Given the description of an element on the screen output the (x, y) to click on. 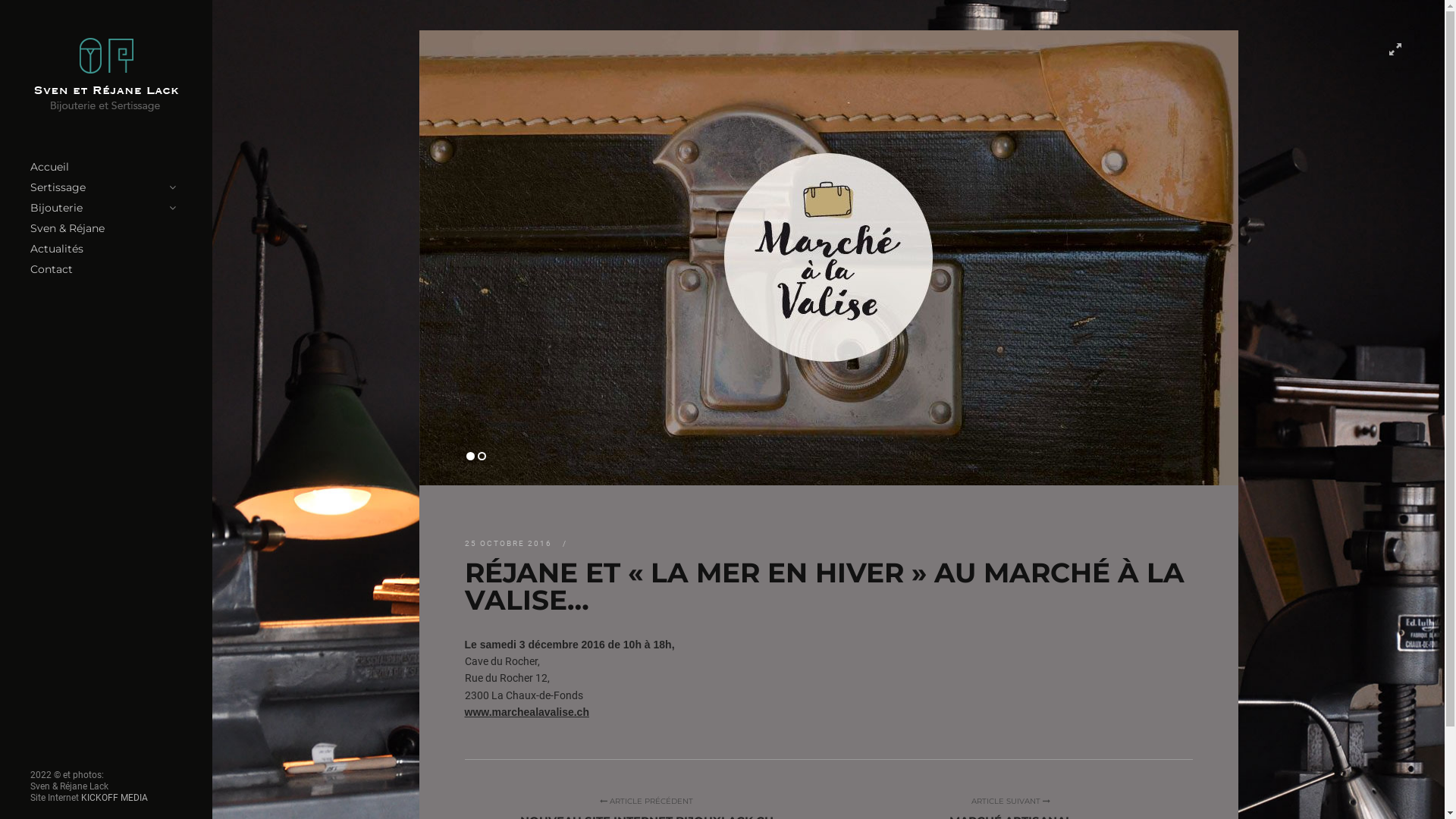
Full screen Element type: hover (1395, 49)
Accueil Element type: text (106, 166)
2 Element type: text (481, 455)
www.marchealavalise.ch Element type: text (526, 712)
Contact Element type: text (106, 269)
1 Element type: text (469, 455)
KICKOFF MEDIA Element type: text (114, 797)
